Given the description of an element on the screen output the (x, y) to click on. 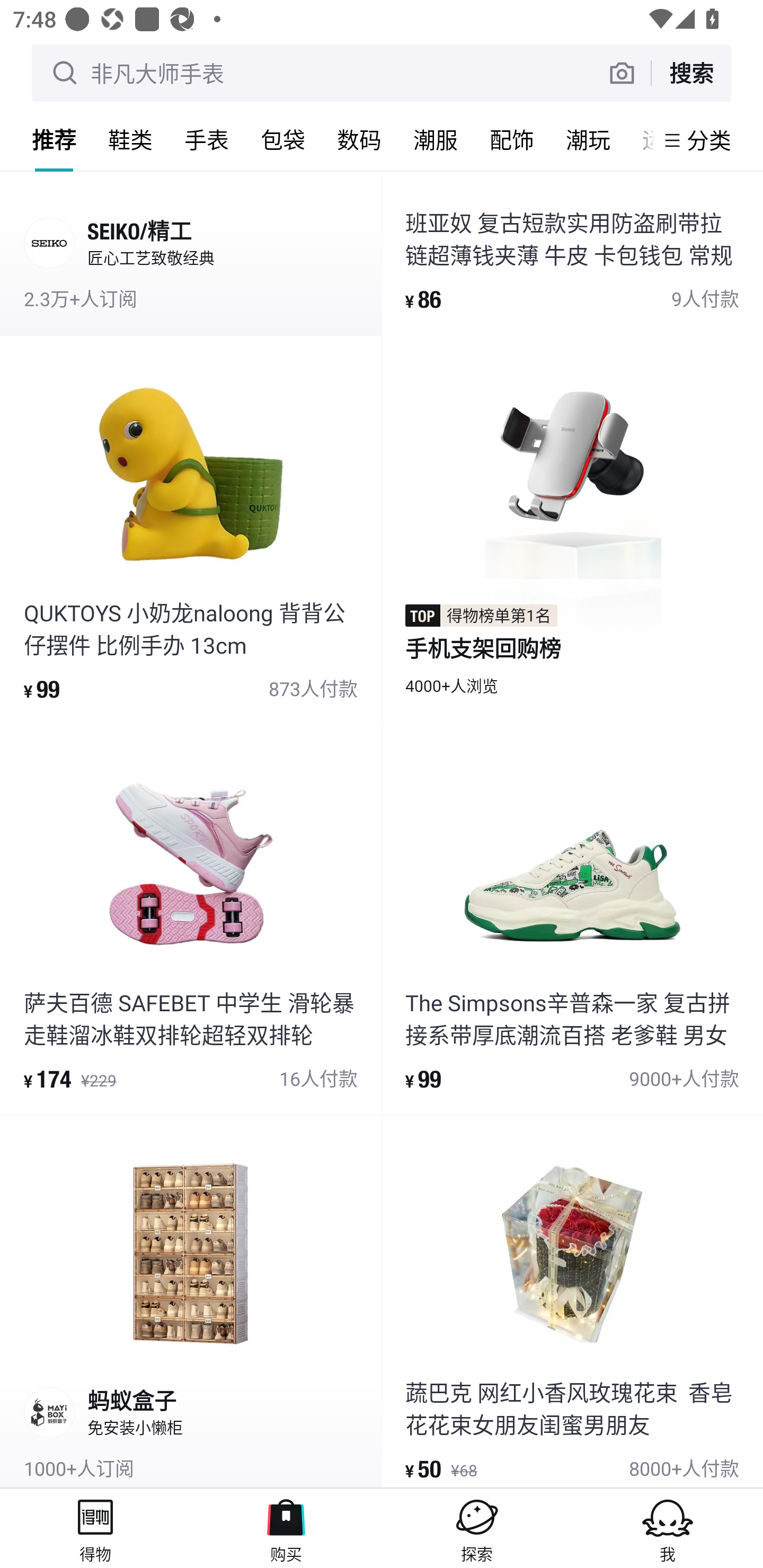
搜索 (690, 72)
推荐 (54, 139)
鞋类 (130, 139)
手表 (206, 139)
包袋 (282, 139)
数码 (359, 139)
潮服 (435, 139)
配饰 (511, 139)
潮玩 (588, 139)
分类 (708, 139)
SEIKO/精工 匠心工艺致敬经典 2.3万+人订阅 (190, 252)
得物榜单第1名 手机支架回购榜 4000+人浏览 (572, 529)
蚂蚁盒子 免安装小懒柜 1000+人订阅 (190, 1301)
得物 (95, 1528)
购买 (285, 1528)
探索 (476, 1528)
我 (667, 1528)
